Given the description of an element on the screen output the (x, y) to click on. 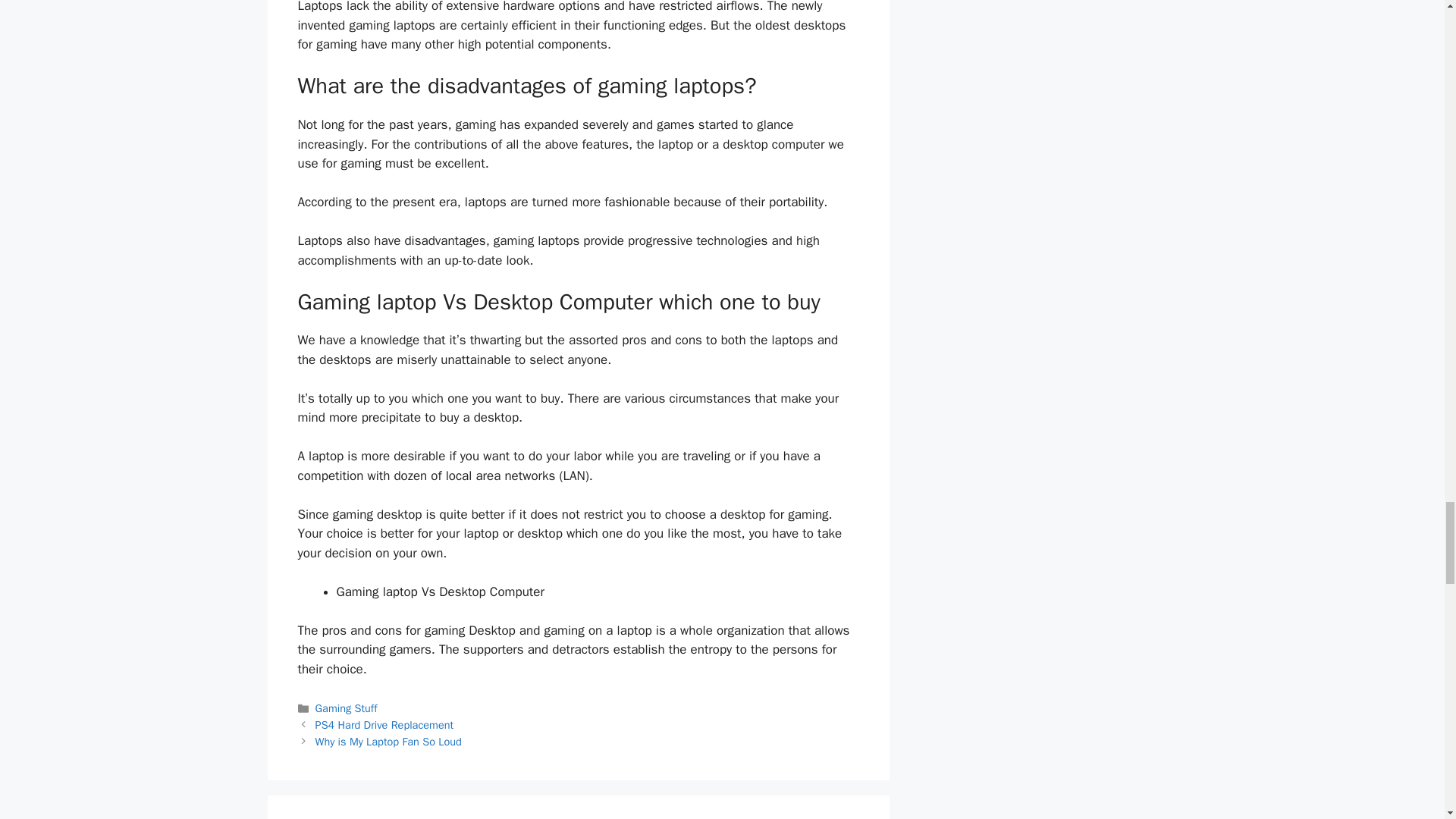
Gaming Stuff (346, 707)
PS4 Hard Drive Replacement (384, 725)
Why is My Laptop Fan So Loud (388, 741)
